Given the description of an element on the screen output the (x, y) to click on. 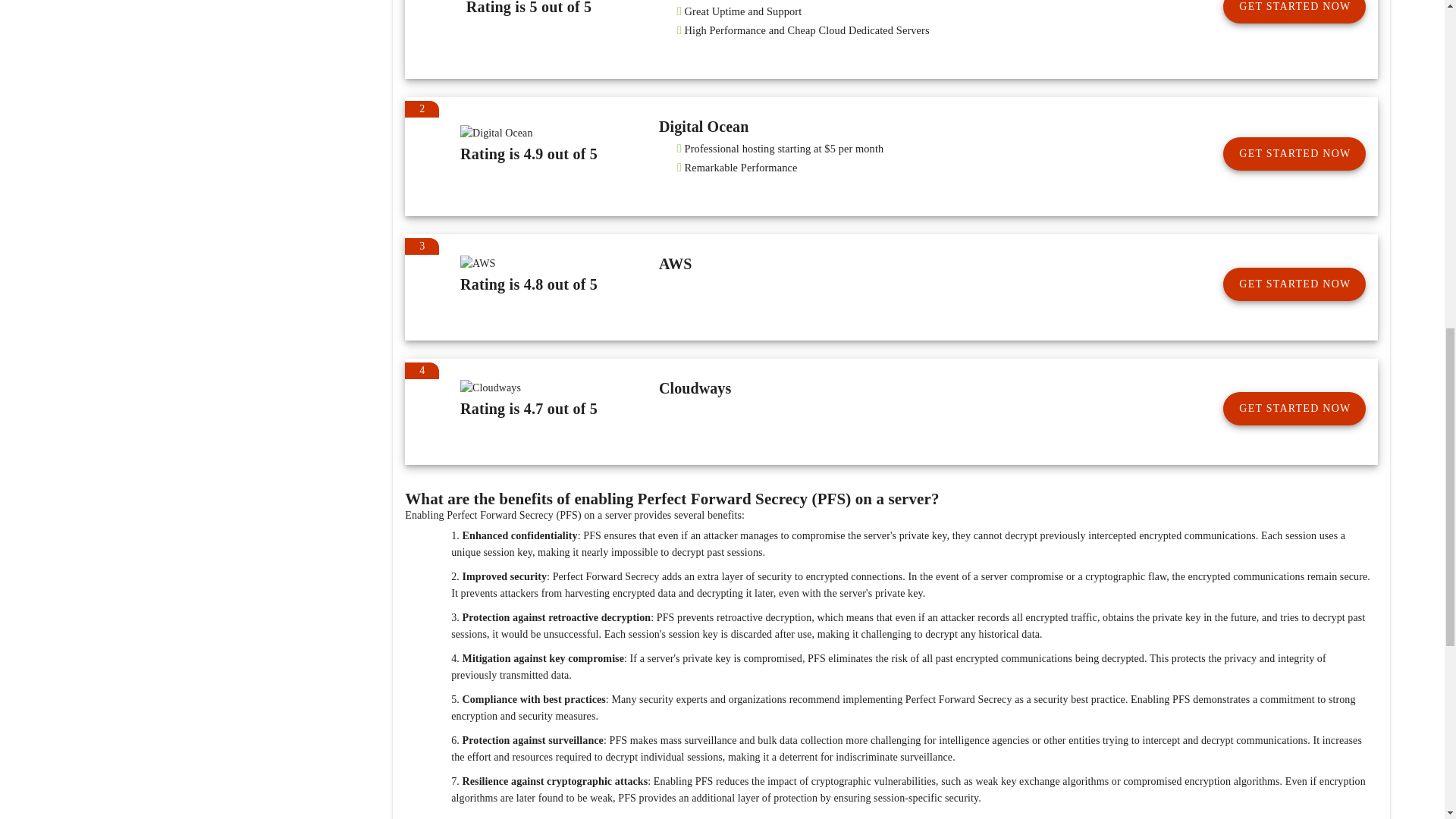
GET STARTED NOW (1294, 153)
GET STARTED NOW (1294, 408)
GET STARTED NOW (1294, 284)
GET STARTED NOW (1294, 11)
